Given the description of an element on the screen output the (x, y) to click on. 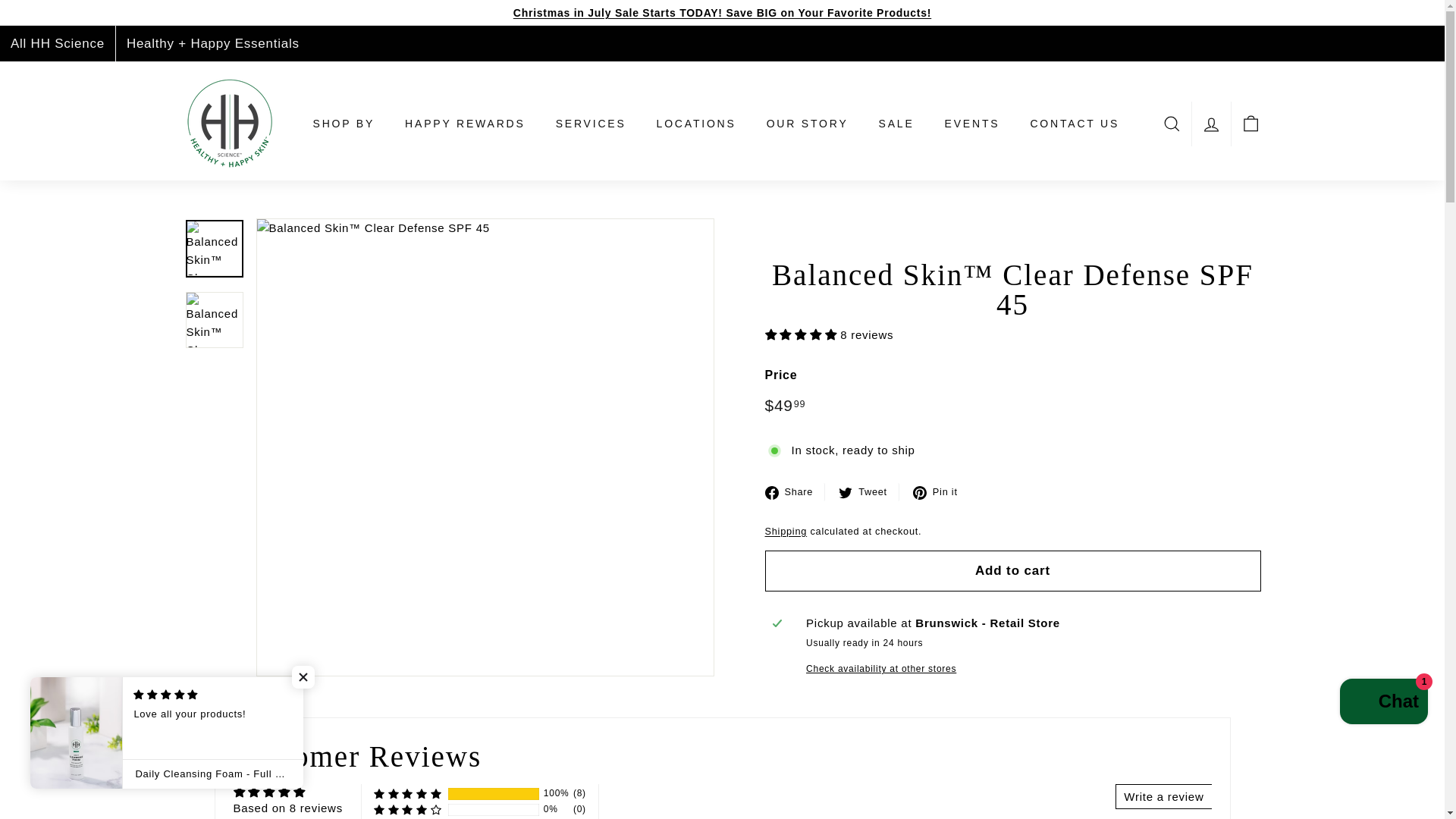
All HH Science (58, 43)
Share on Facebook (794, 492)
Sale (722, 12)
Tweet on Twitter (868, 492)
SHOP BY (343, 123)
Pin on Pinterest (940, 492)
